Given the description of an element on the screen output the (x, y) to click on. 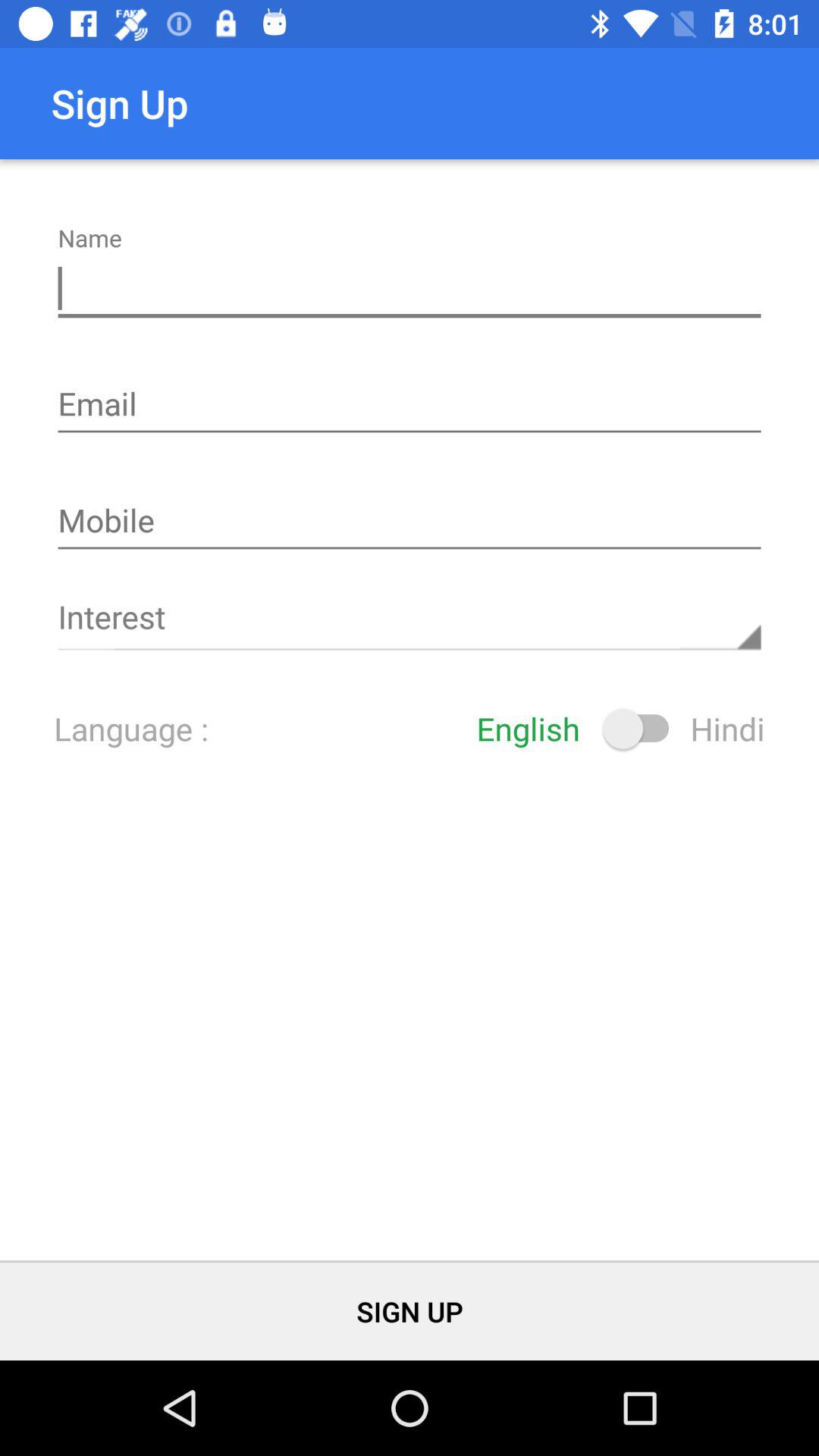
enter name (409, 288)
